Given the description of an element on the screen output the (x, y) to click on. 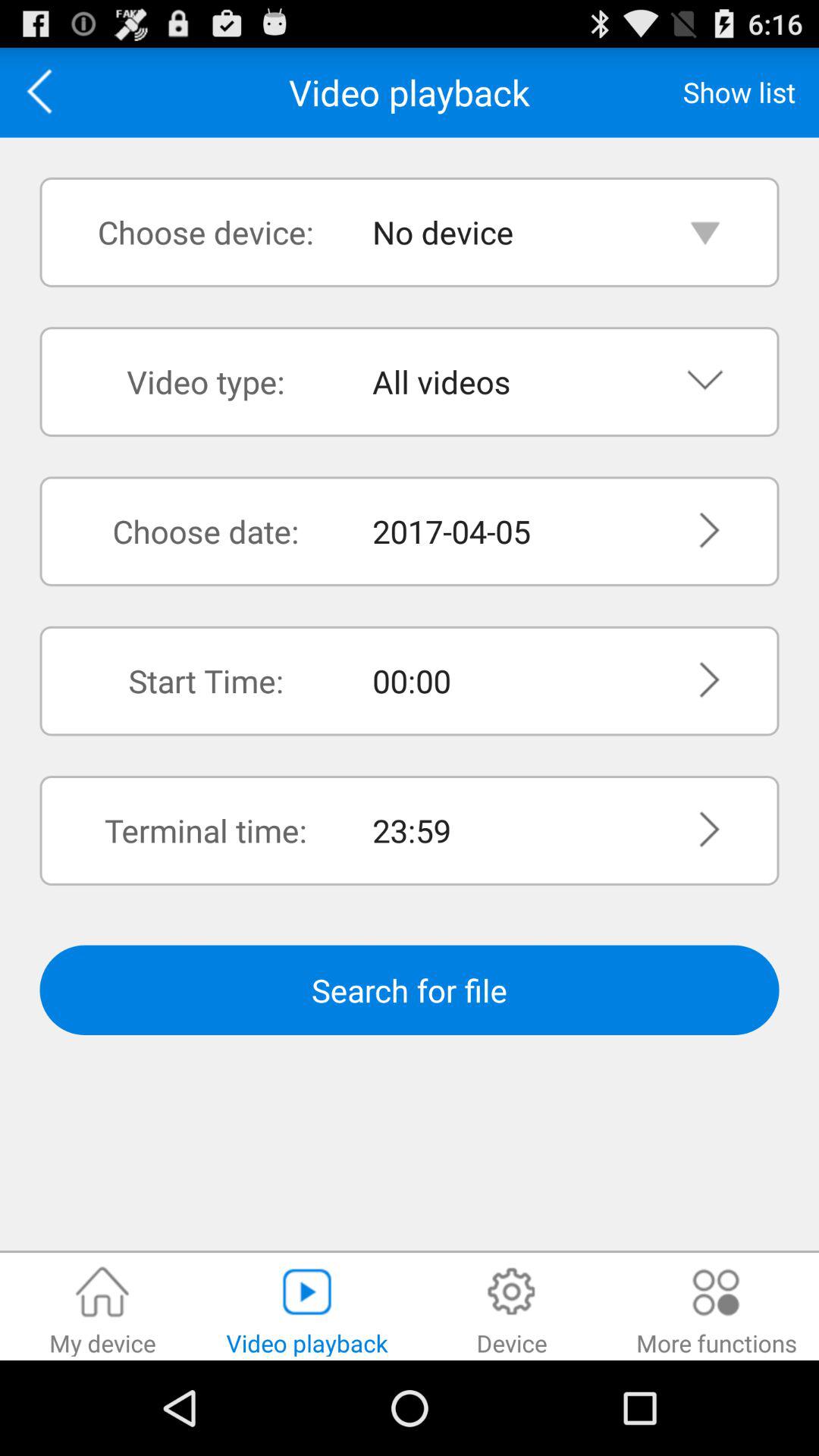
press the app above the choose device: item (44, 92)
